Given the description of an element on the screen output the (x, y) to click on. 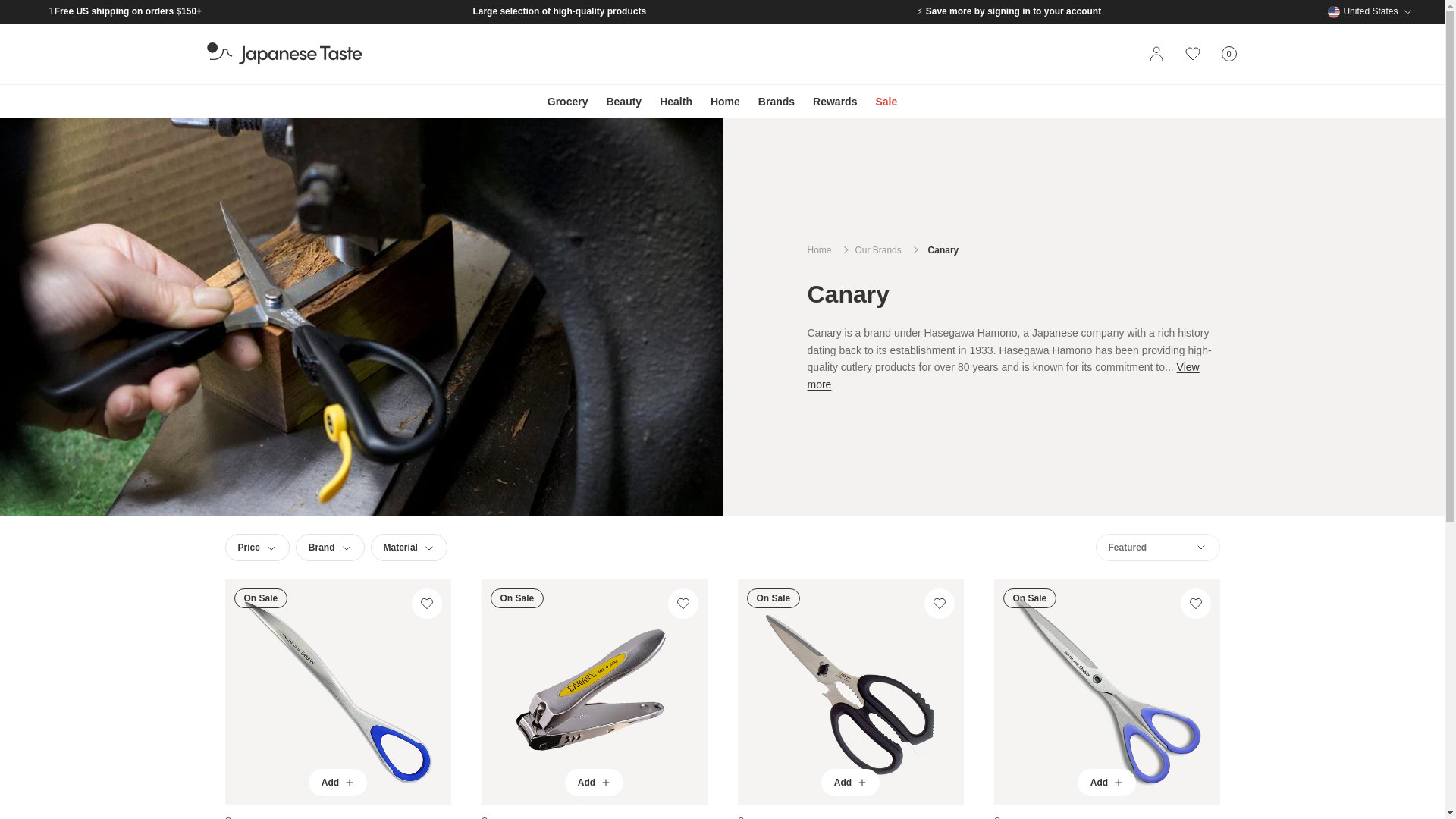
Grocery (567, 101)
Japanese Taste (283, 53)
United States (1228, 54)
